Given the description of an element on the screen output the (x, y) to click on. 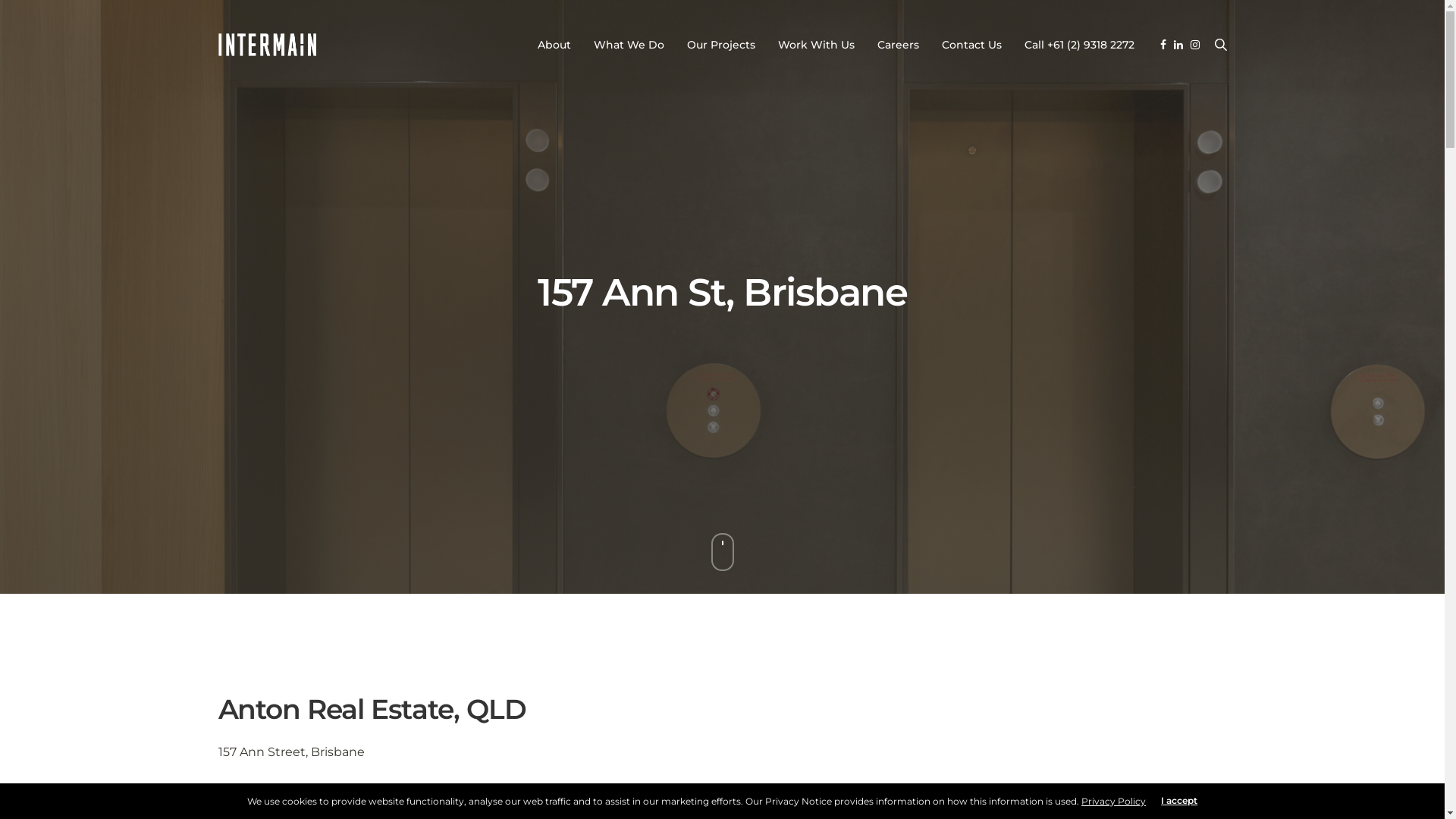
Our Projects Element type: text (721, 44)
Contact Us Element type: text (971, 44)
BMS Policies Element type: text (901, 792)
Careers at Intermain Element type: text (1126, 675)
Intermain Pty. Ltd. Element type: hover (267, 44)
Contractor Registration Element type: text (1131, 655)
Work With Us Element type: text (816, 44)
Newsroom Element type: text (932, 675)
DesignSmiths Element type: text (449, 792)
Call +61 (2) 9318 2272 Element type: text (1078, 44)
Privacy Policy Element type: text (1034, 792)
Privacy Policy Element type: text (1113, 800)
About Element type: text (922, 635)
I accept Element type: text (1179, 800)
Current Tenders Element type: text (1116, 635)
What We Do Element type: text (628, 44)
About Element type: text (553, 44)
Terms of Use Element type: text (1120, 792)
Our Projects Element type: text (936, 655)
Contact Us Element type: text (1199, 792)
FAQs Element type: text (966, 792)
Careers Element type: text (897, 44)
